Given the description of an element on the screen output the (x, y) to click on. 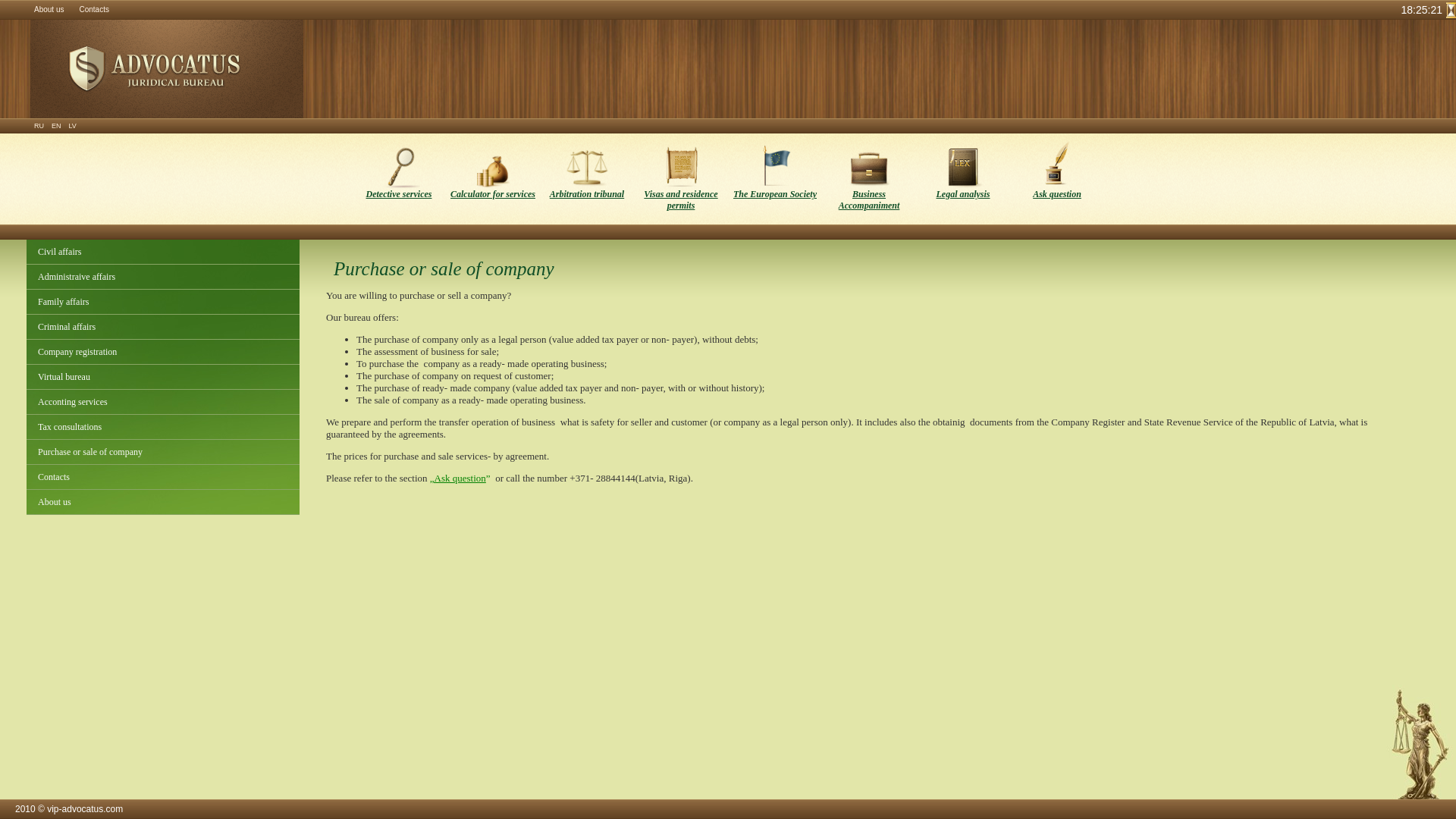
Purchase or sale of company (162, 452)
Contacts (93, 9)
Ask question (1056, 178)
Calculator for services (492, 178)
Legal analysis (963, 178)
Civil affairs (162, 251)
About us (162, 502)
Arbitration tribunal (586, 178)
Acconting services (162, 401)
Detective services (398, 178)
